Given the description of an element on the screen output the (x, y) to click on. 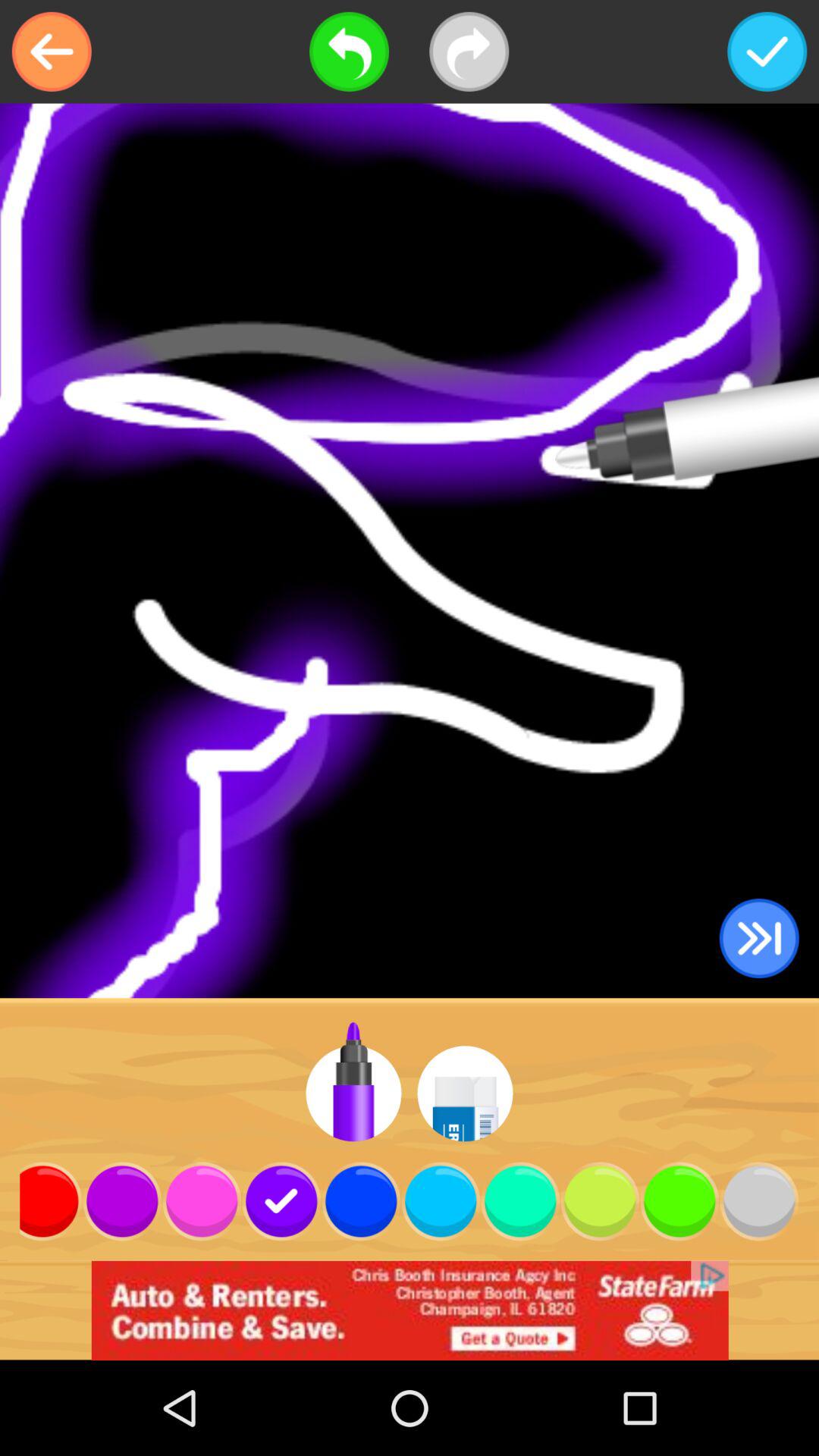
button to accept drawing (767, 51)
